Given the description of an element on the screen output the (x, y) to click on. 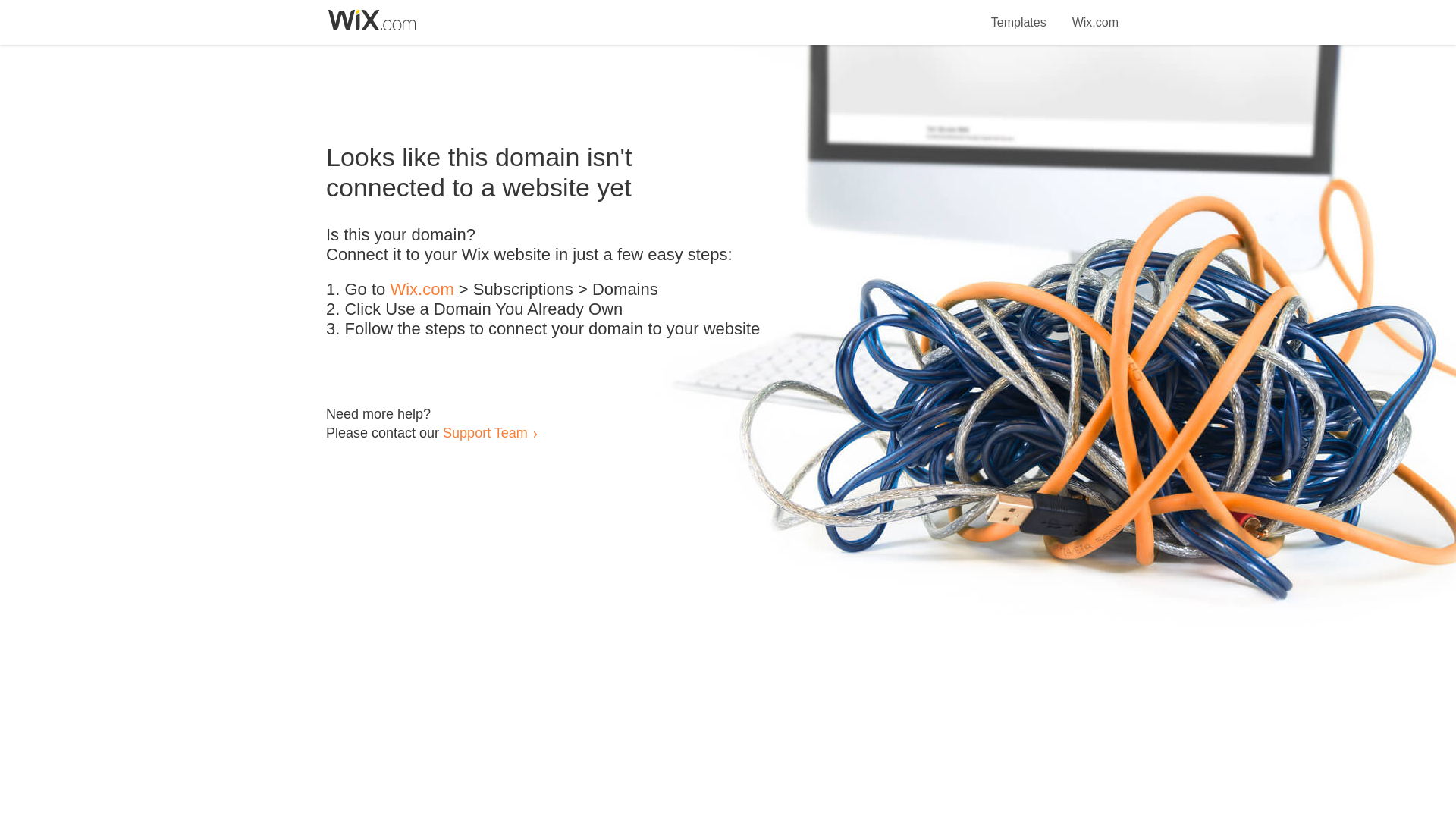
Wix.com (421, 289)
Wix.com (1095, 14)
Support Team (484, 432)
Templates (1018, 14)
